Given the description of an element on the screen output the (x, y) to click on. 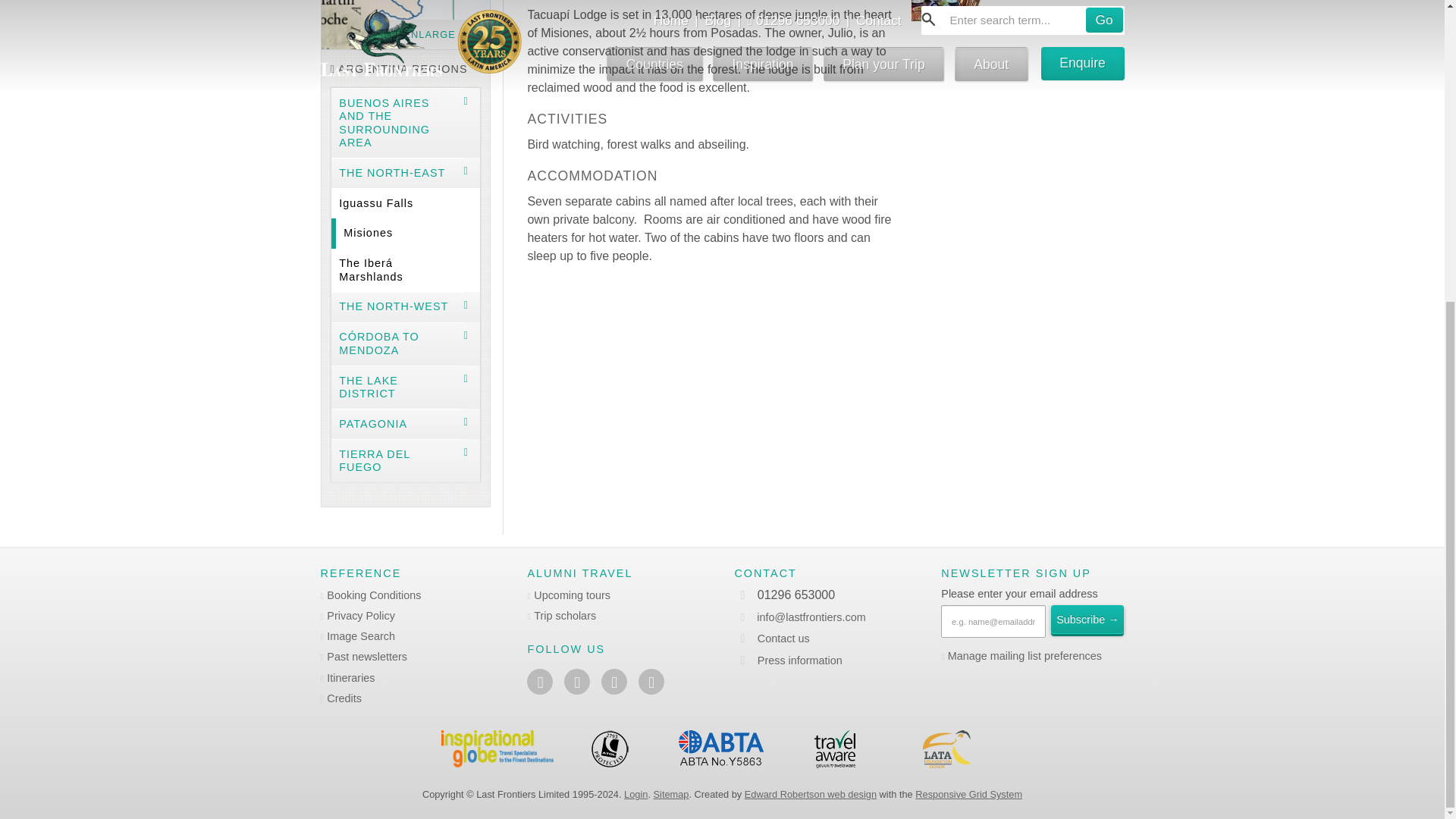
Argentina region map (404, 24)
Tacuapi Lodge (946, 11)
We are members of ABTA (721, 749)
